Given the description of an element on the screen output the (x, y) to click on. 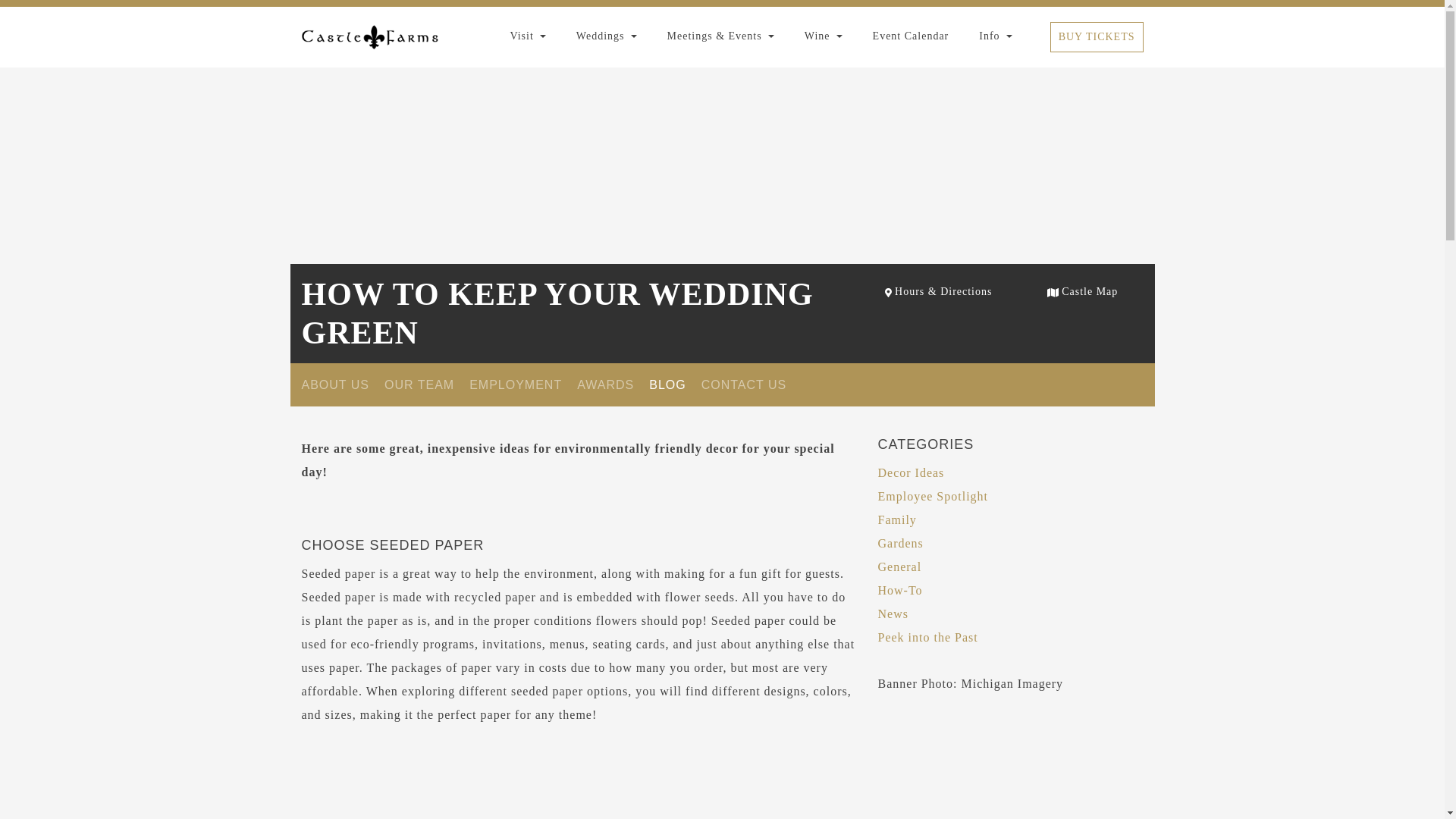
Weddings (606, 36)
Contact Us (744, 384)
About Us (335, 384)
Awards (604, 384)
Employment (515, 384)
Our Team (419, 384)
